Given the description of an element on the screen output the (x, y) to click on. 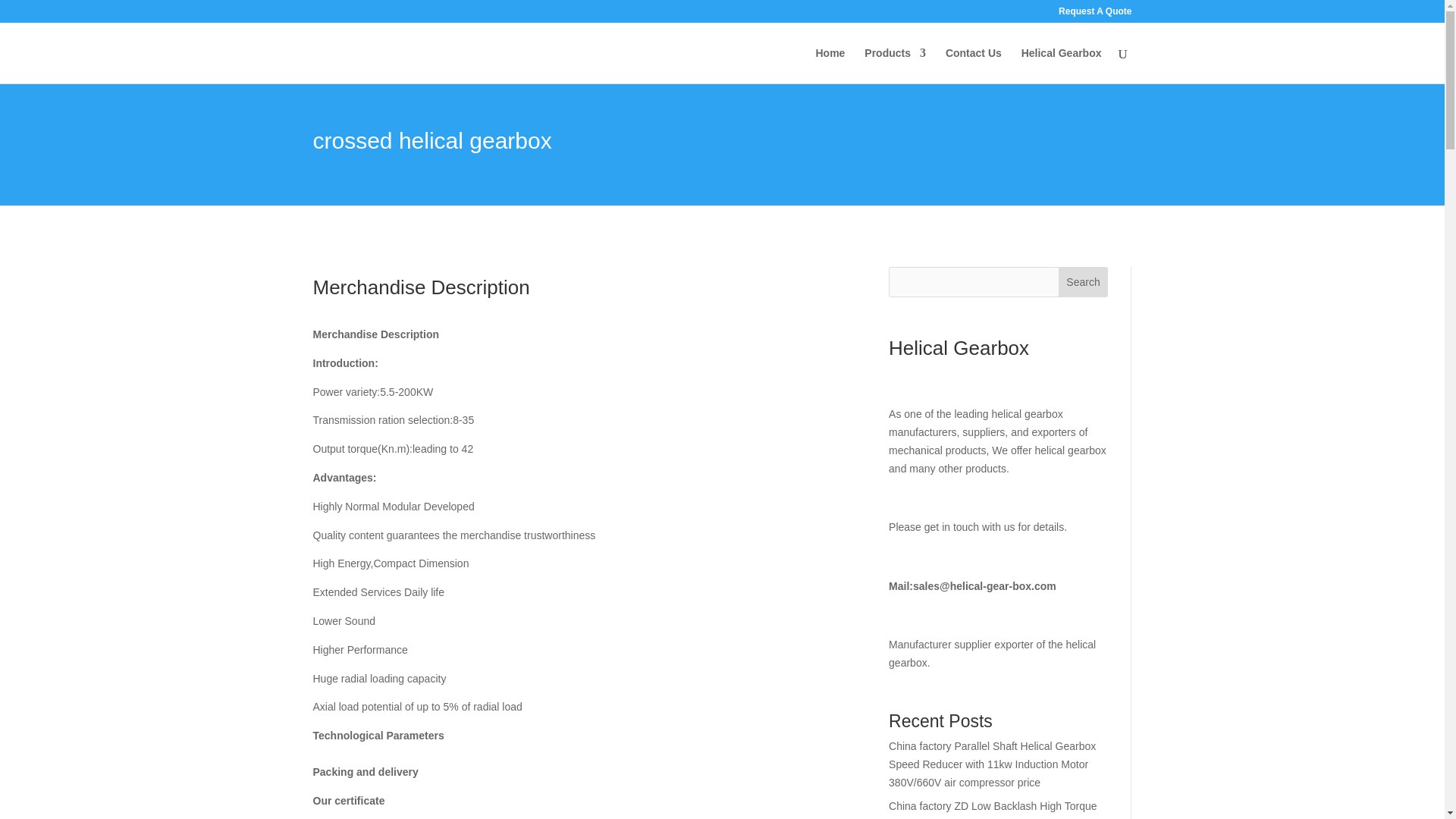
Contact Us (972, 65)
Helical Gearbox (1062, 65)
Products (895, 65)
Search (1083, 281)
Request A Quote (1094, 14)
